Given the description of an element on the screen output the (x, y) to click on. 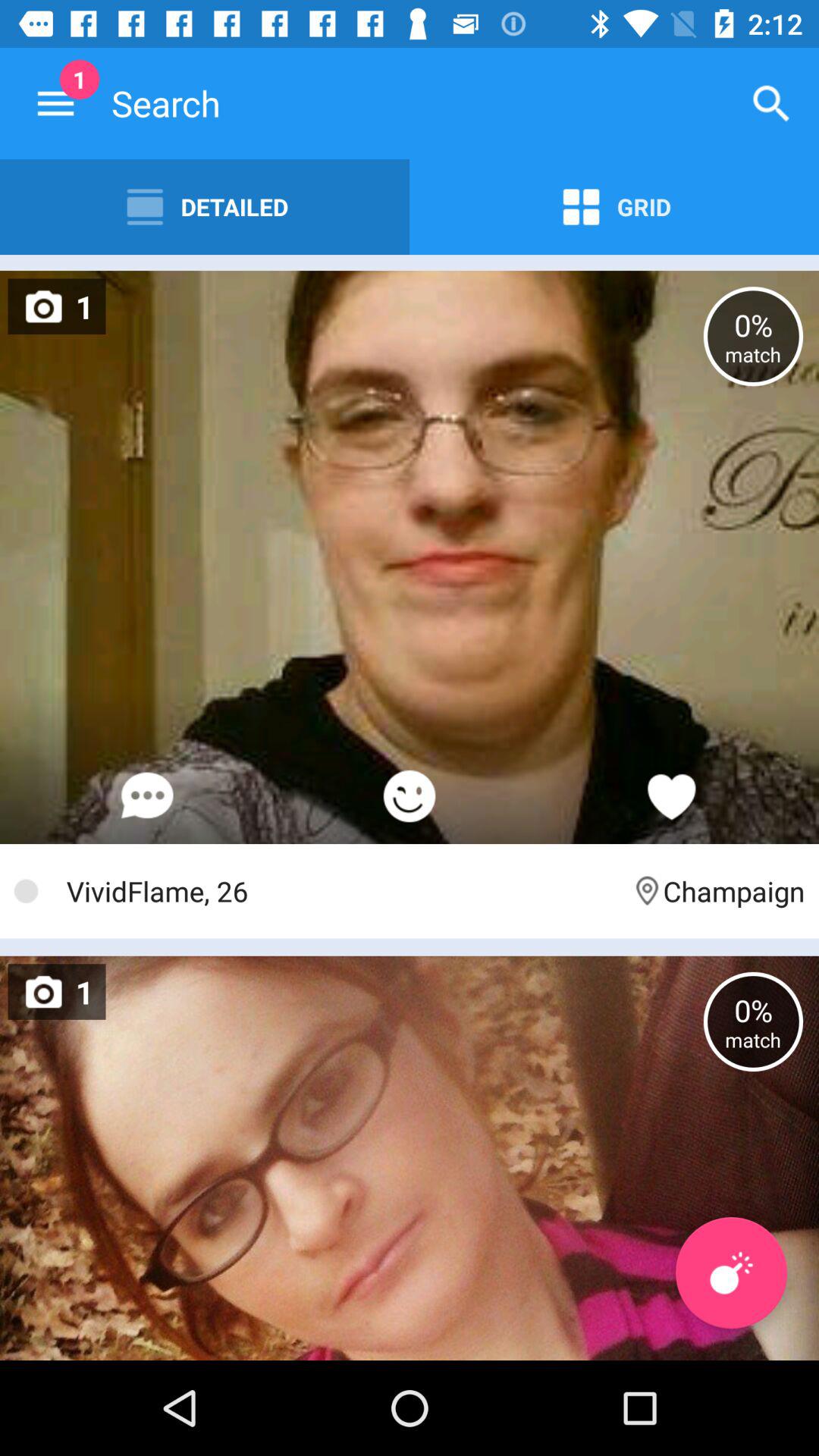
turn off the icon below 0%
match item (731, 1272)
